Given the description of an element on the screen output the (x, y) to click on. 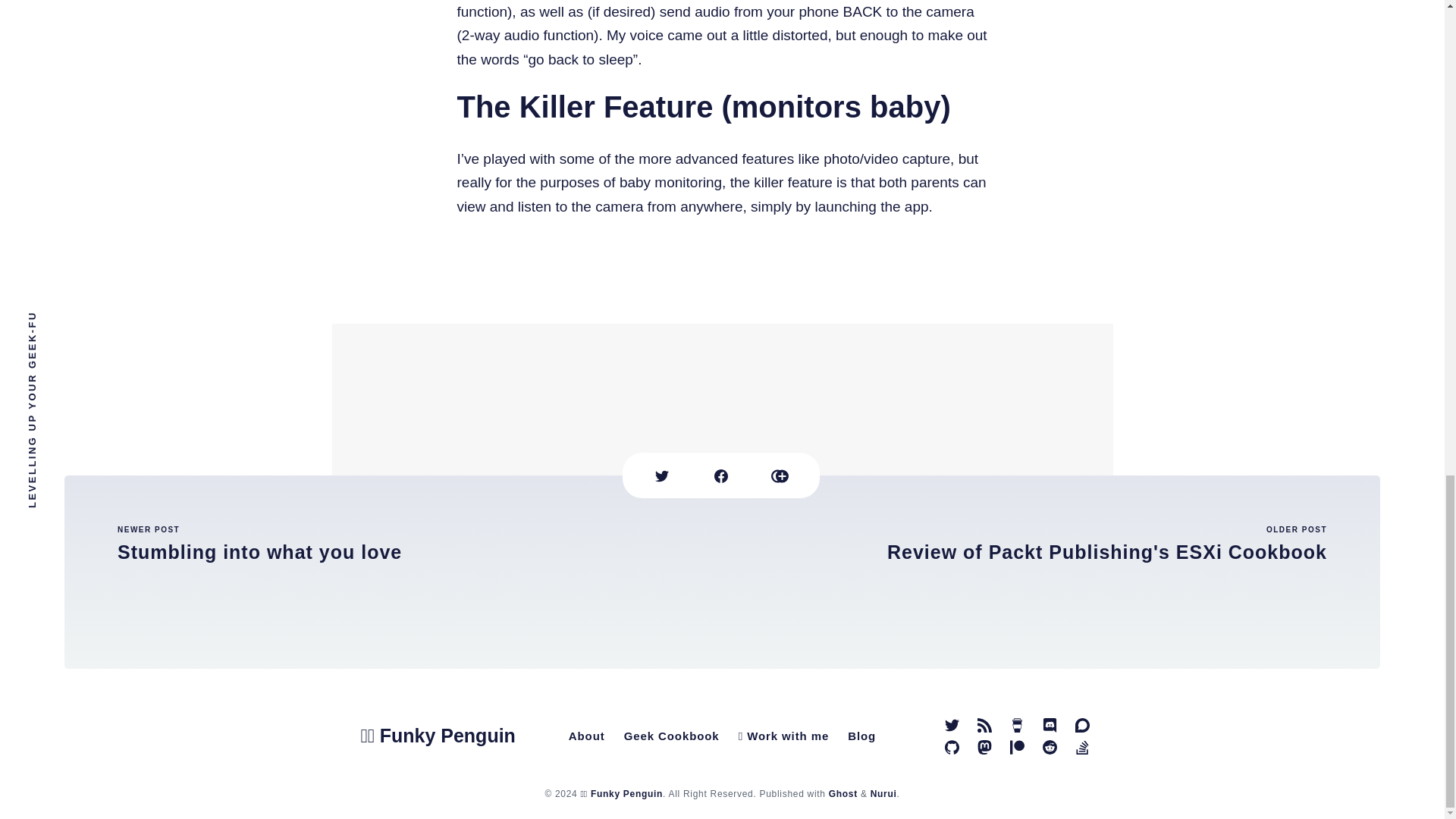
About (586, 736)
Geek Cookbook (1051, 572)
Blog (670, 736)
